Given the description of an element on the screen output the (x, y) to click on. 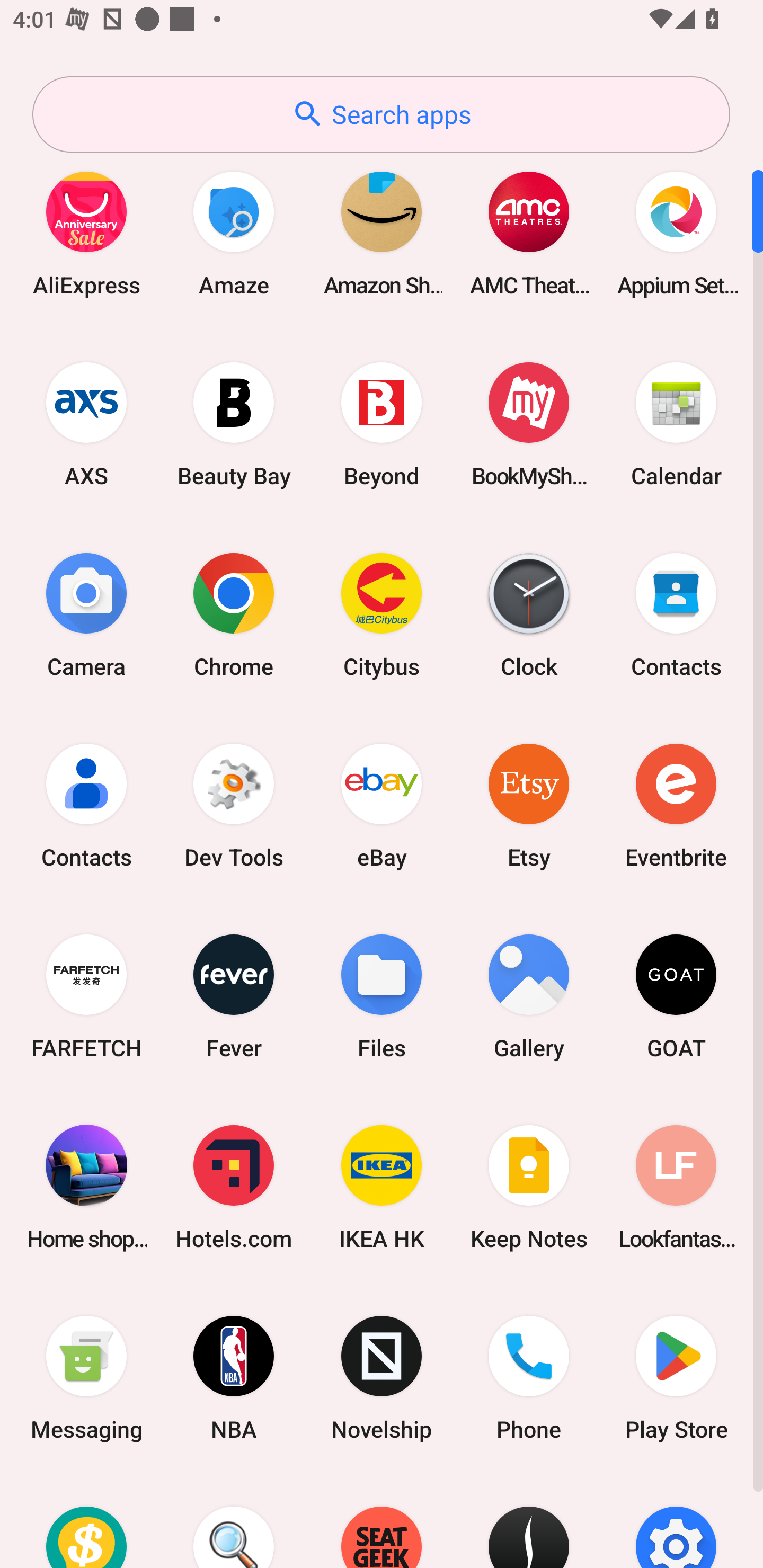
  Search apps (381, 114)
AliExpress (86, 233)
Amaze (233, 233)
Amazon Shopping (381, 233)
AMC Theatres (528, 233)
Appium Settings (676, 233)
AXS (86, 424)
Beauty Bay (233, 424)
Beyond (381, 424)
BookMyShow (528, 424)
Calendar (676, 424)
Camera (86, 614)
Chrome (233, 614)
Citybus (381, 614)
Clock (528, 614)
Contacts (676, 614)
Contacts (86, 805)
Dev Tools (233, 805)
eBay (381, 805)
Etsy (528, 805)
Eventbrite (676, 805)
FARFETCH (86, 996)
Fever (233, 996)
Files (381, 996)
Gallery (528, 996)
GOAT (676, 996)
Home shopping (86, 1186)
Hotels.com (233, 1186)
IKEA HK (381, 1186)
Keep Notes (528, 1186)
Lookfantastic (676, 1186)
Messaging (86, 1377)
NBA (233, 1377)
Novelship (381, 1377)
Phone (528, 1377)
Play Store (676, 1377)
Price (86, 1520)
Search (233, 1520)
SeatGeek (381, 1520)
Sephora (528, 1520)
Settings (676, 1520)
